Given the description of an element on the screen output the (x, y) to click on. 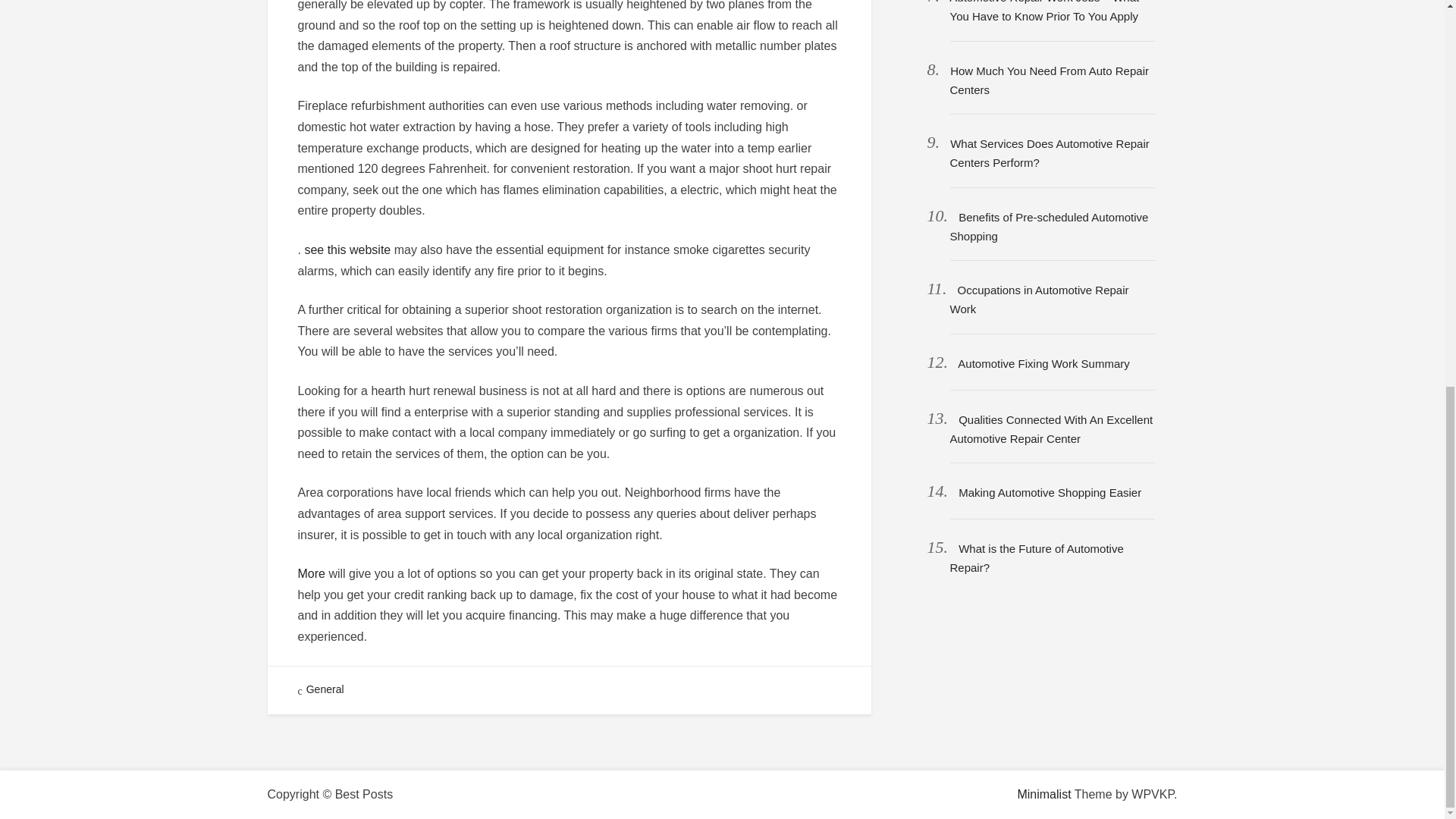
How Much You Need From Auto Repair Centers (1048, 80)
General (324, 689)
see this website (347, 249)
More (310, 573)
Benefits of Pre-scheduled Automotive Shopping (1048, 226)
What is the Future of Automotive Repair? (1035, 558)
Making Automotive Shopping Easier (1049, 492)
Minimalist (1043, 793)
Occupations in Automotive Repair Work (1038, 299)
Automotive Fixing Work Summary (1043, 363)
What Services Does Automotive Repair Centers Perform? (1048, 152)
